Given the description of an element on the screen output the (x, y) to click on. 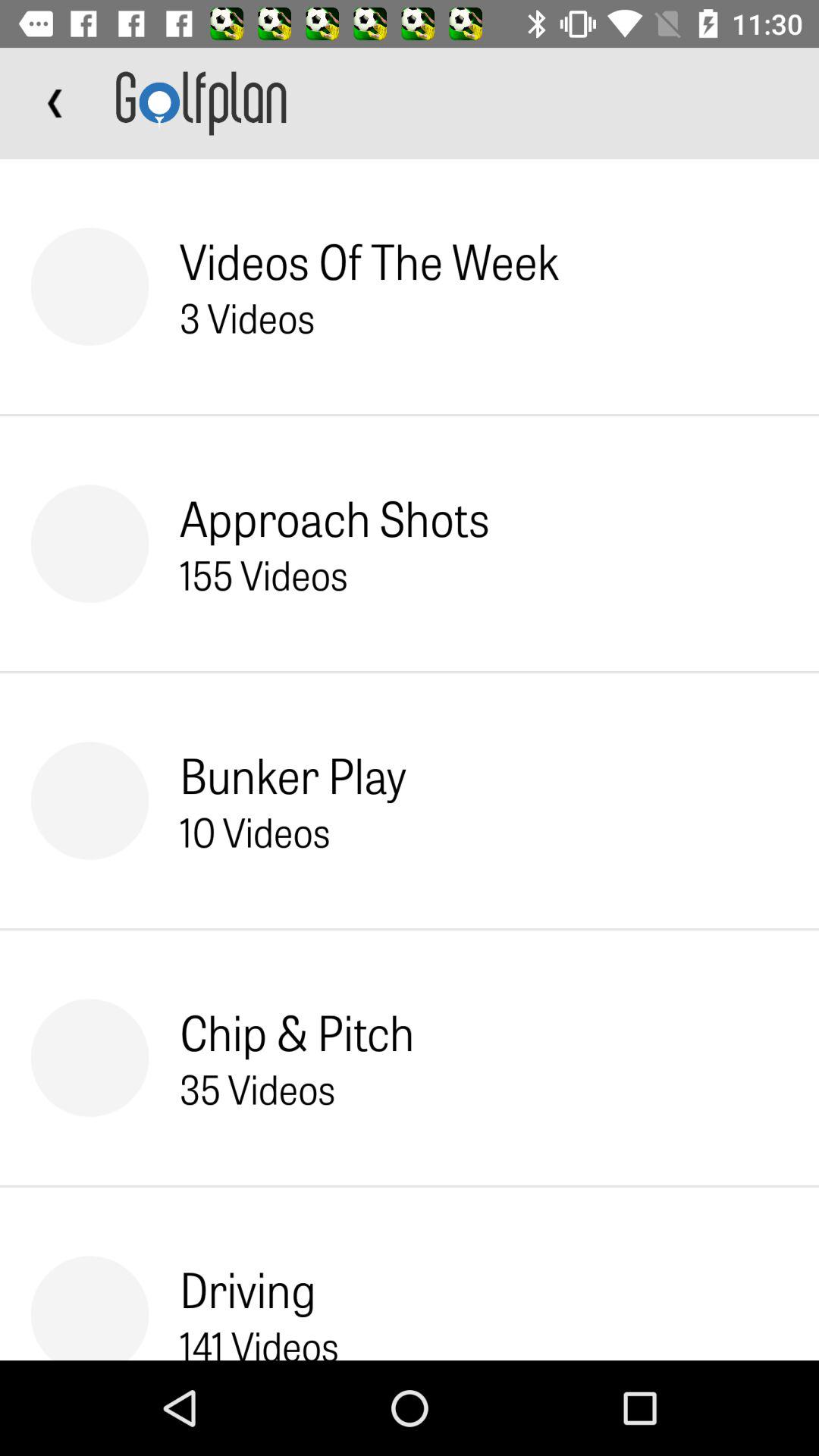
click the item below 35 videos icon (247, 1289)
